Given the description of an element on the screen output the (x, y) to click on. 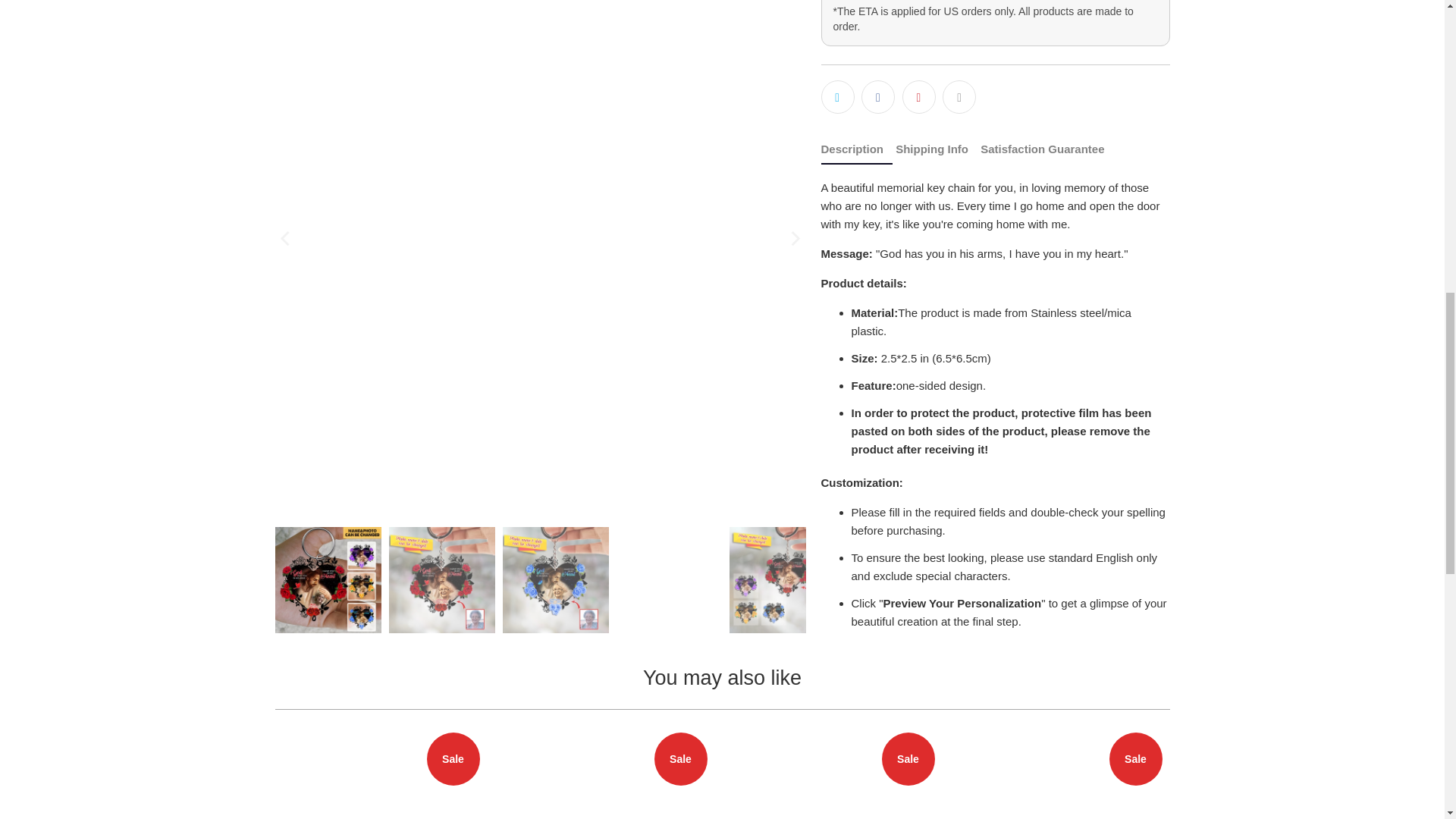
Email this to a friend (958, 96)
Share this on Facebook (878, 96)
Share this on Pinterest (919, 96)
Share this on Twitter (837, 96)
